Given the description of an element on the screen output the (x, y) to click on. 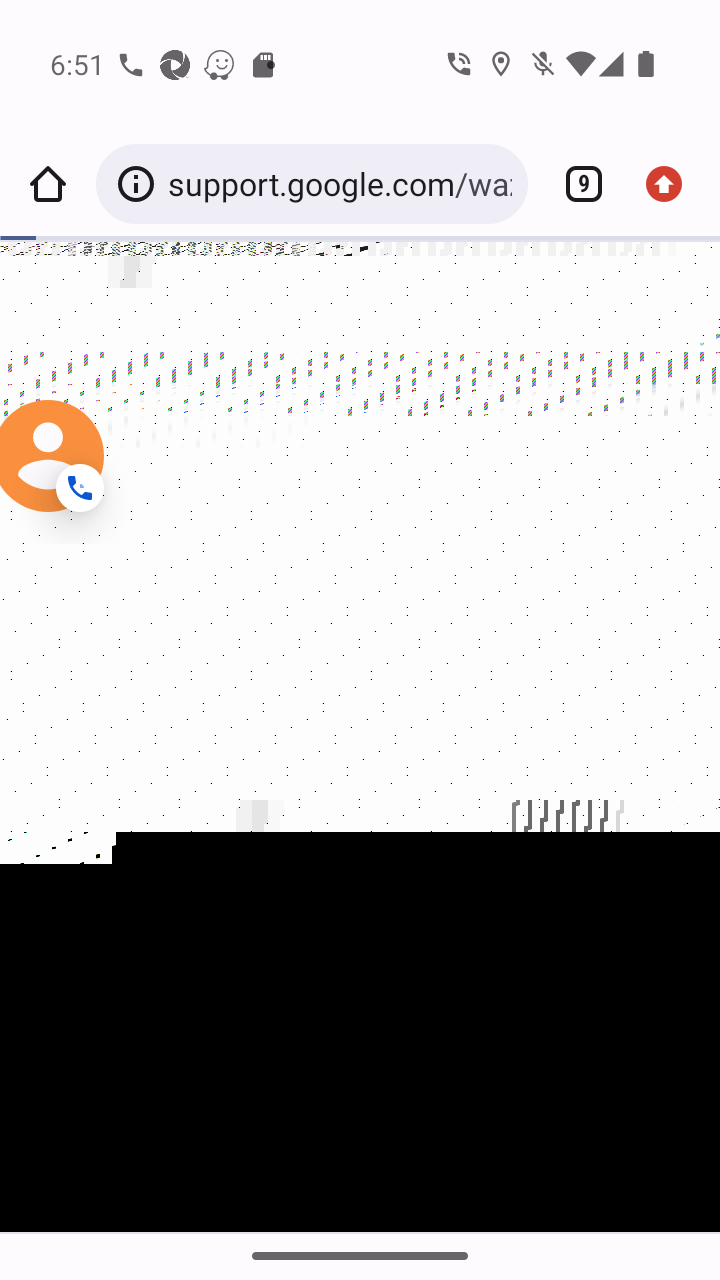
Home (47, 184)
Your connection to this site is not secure (139, 184)
Switch or close tabs (575, 184)
Update available. More options (672, 184)
support.google.com/waze/answer/11942300 (339, 184)
